Given the description of an element on the screen output the (x, y) to click on. 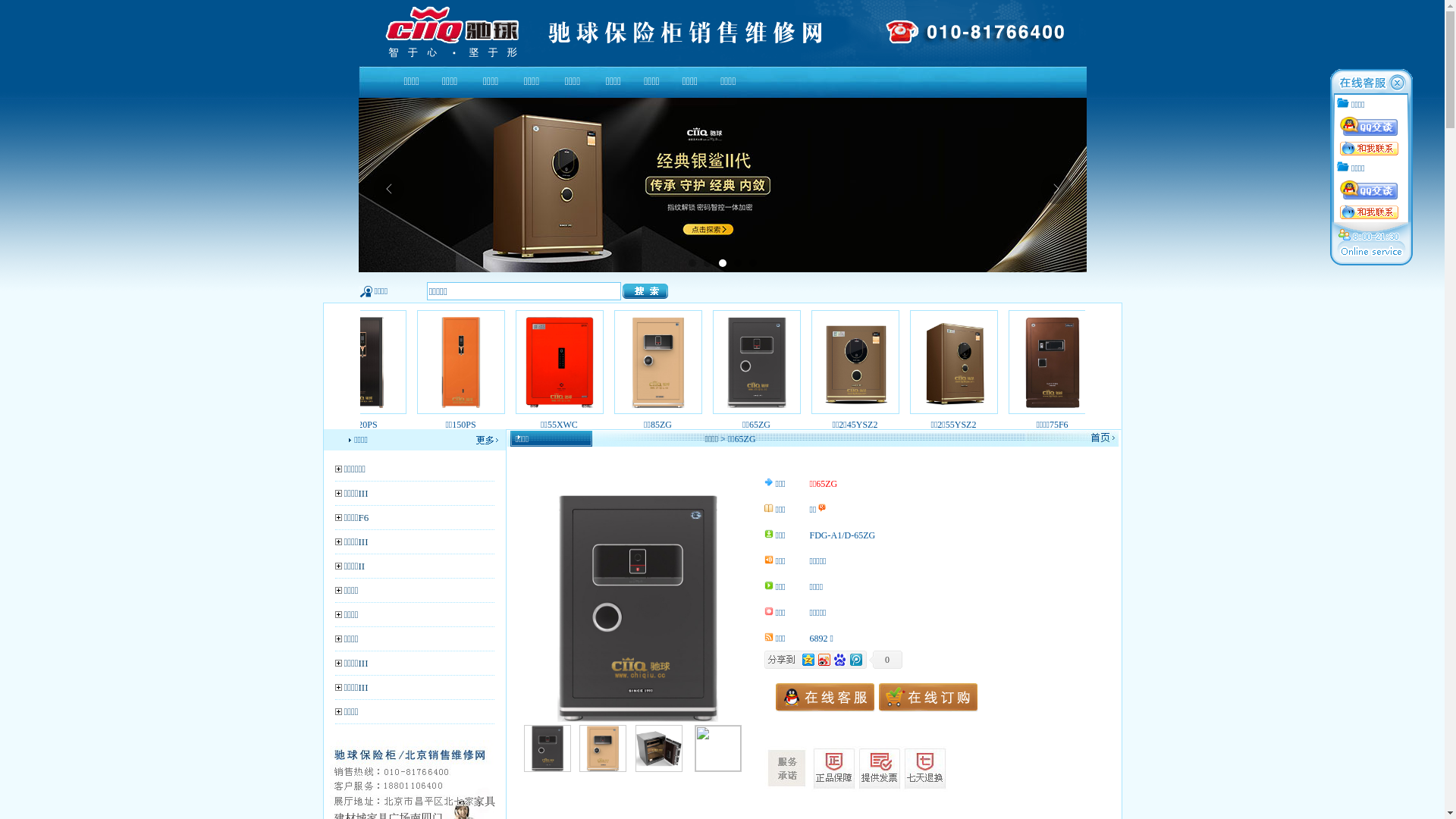
0 Element type: text (885, 659)
